Given the description of an element on the screen output the (x, y) to click on. 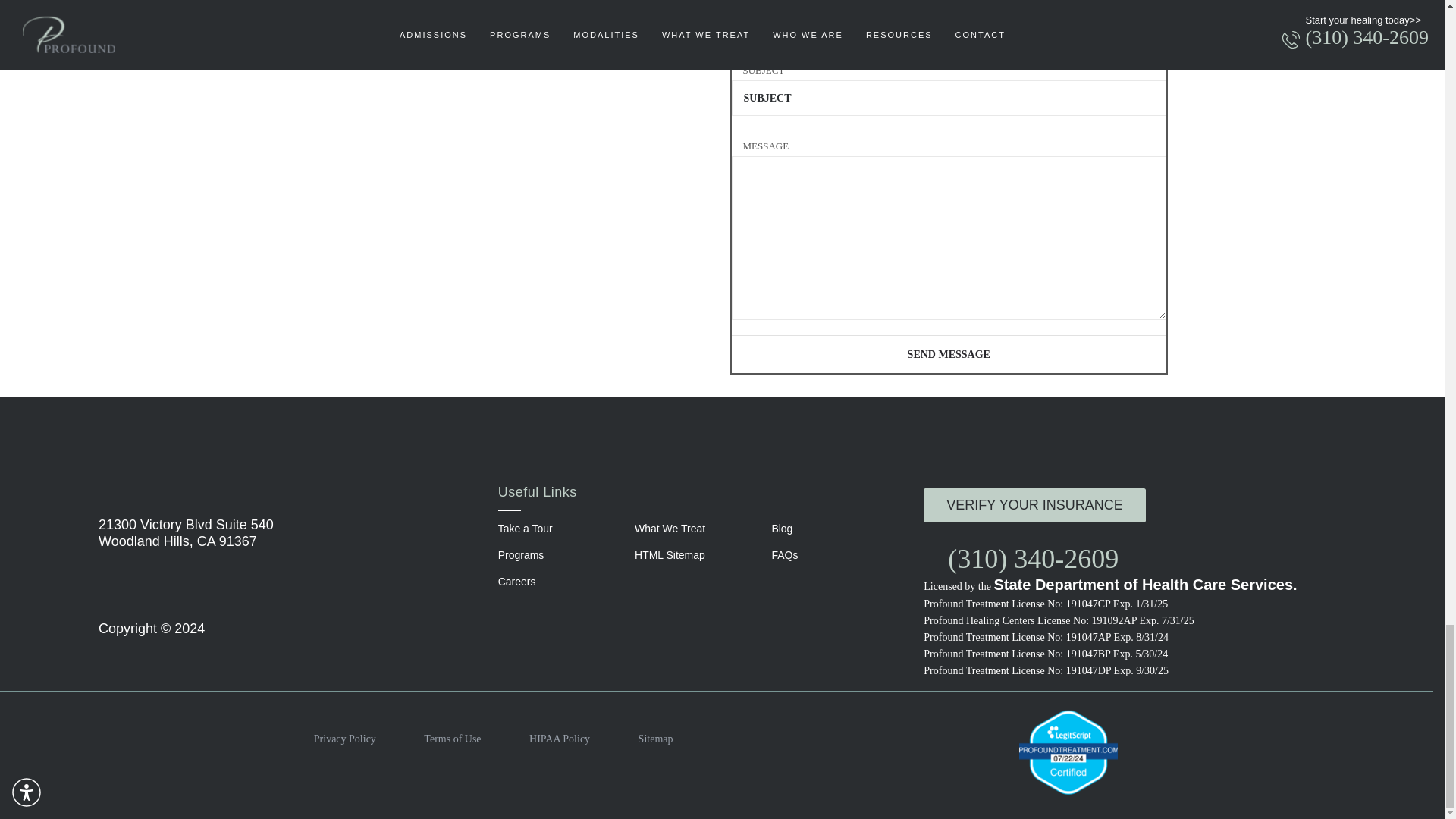
SEND MESSAGE (948, 353)
